Given the description of an element on the screen output the (x, y) to click on. 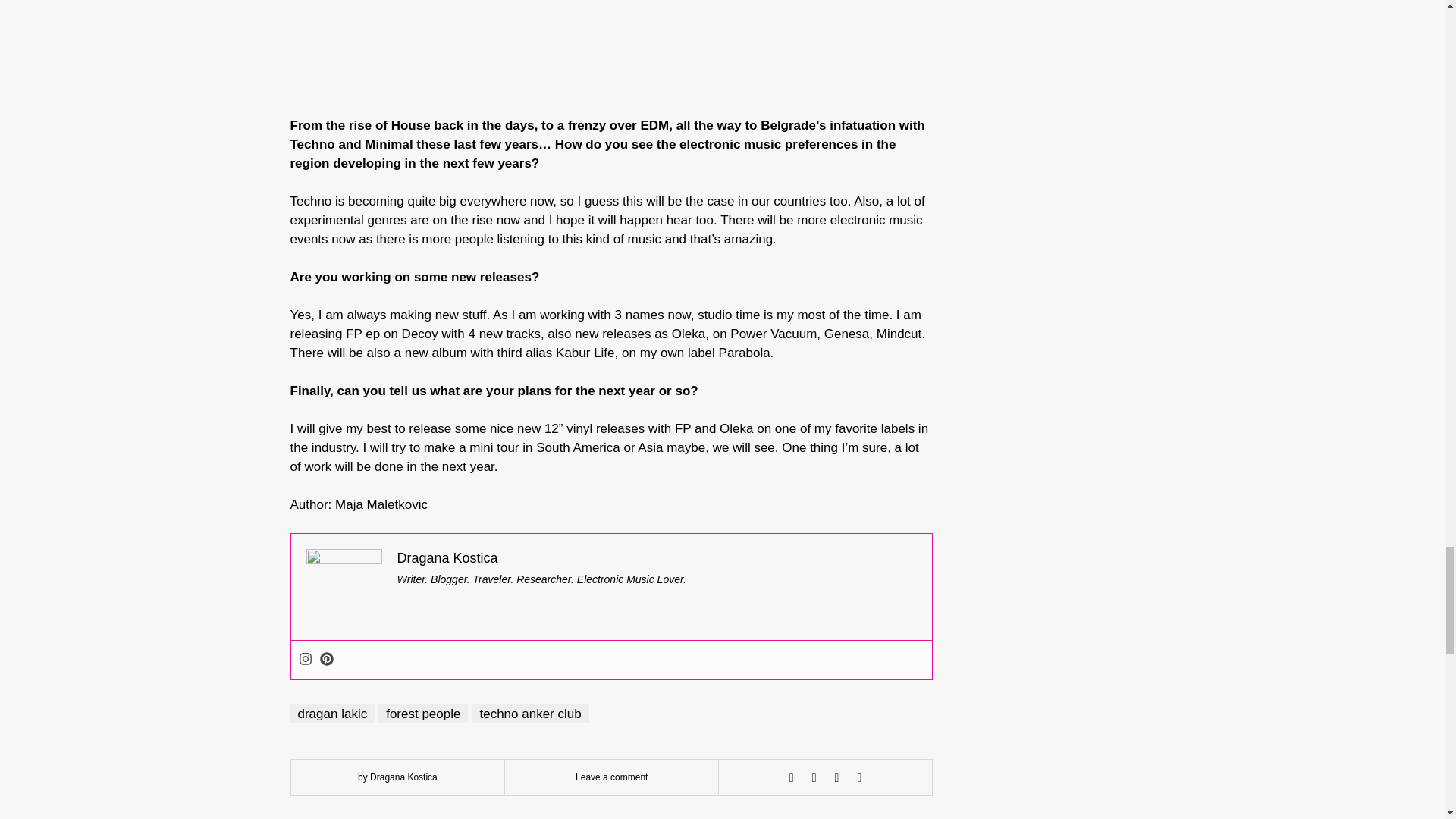
Pin this (858, 777)
Share this (791, 777)
Share with Google Plus (837, 777)
Tweet this (814, 777)
